Given the description of an element on the screen output the (x, y) to click on. 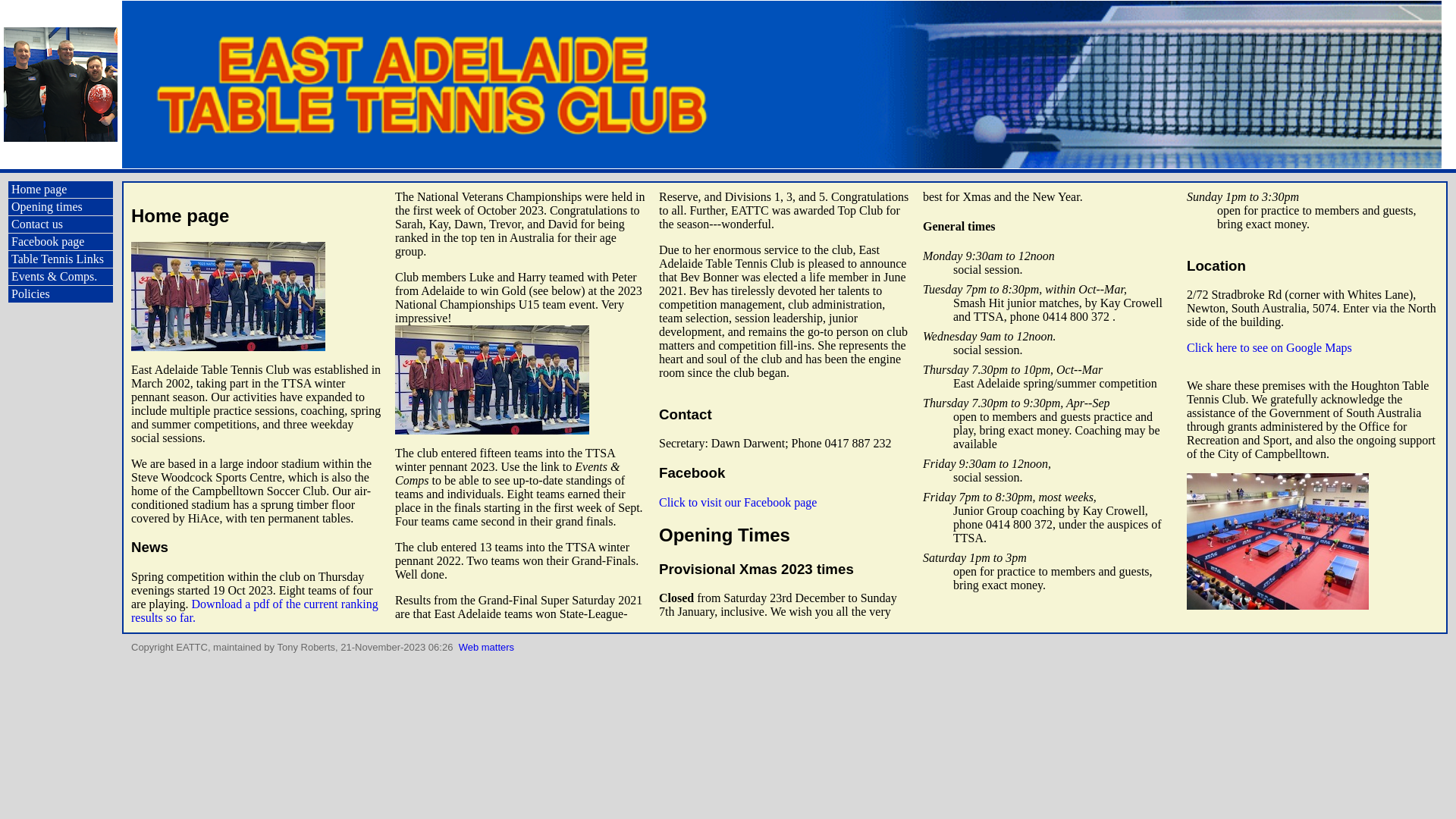
Events & Comps. Element type: text (60, 276)
Contact us Element type: text (60, 224)
Web matters Element type: text (486, 646)
Table Tennis Links Element type: text (60, 259)
Opening times Element type: text (60, 206)
Click here to see on Google Maps Element type: text (1269, 347)
Click to visit our Facebook page Element type: text (737, 501)
Policies Element type: text (60, 293)
Download a pdf of the current ranking results so far. Element type: text (254, 610)
Home page Element type: text (60, 189)
Facebook page Element type: text (60, 241)
